Given the description of an element on the screen output the (x, y) to click on. 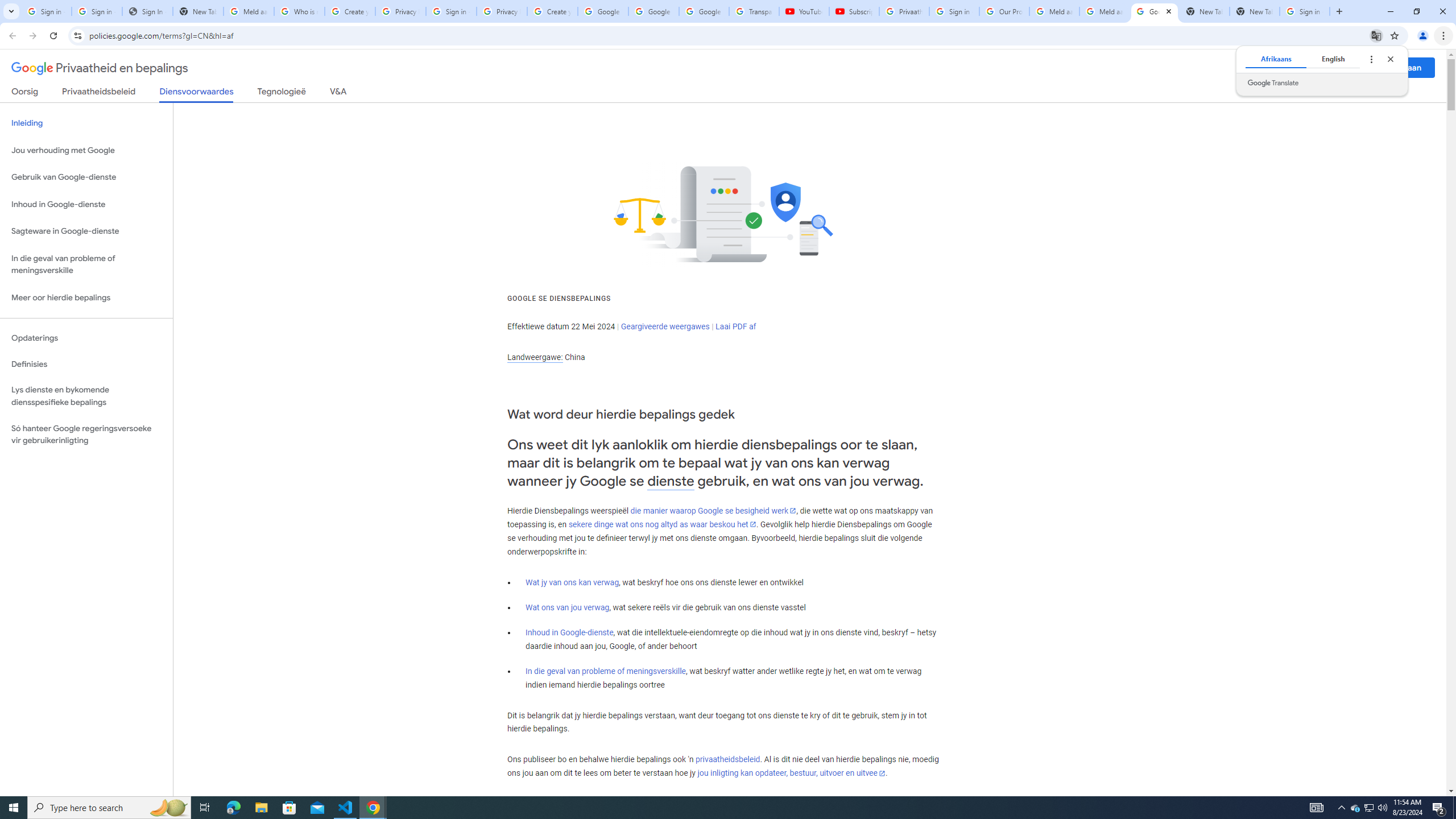
Google-programme (1355, 67)
Sign in - Google Accounts (46, 11)
Geargiveerde weergawes (665, 326)
Google Account (703, 11)
Create your Google Account (350, 11)
die manier waarop Google se besigheid werk (713, 510)
Afrikaans (1275, 58)
Oorsig (25, 93)
